Given the description of an element on the screen output the (x, y) to click on. 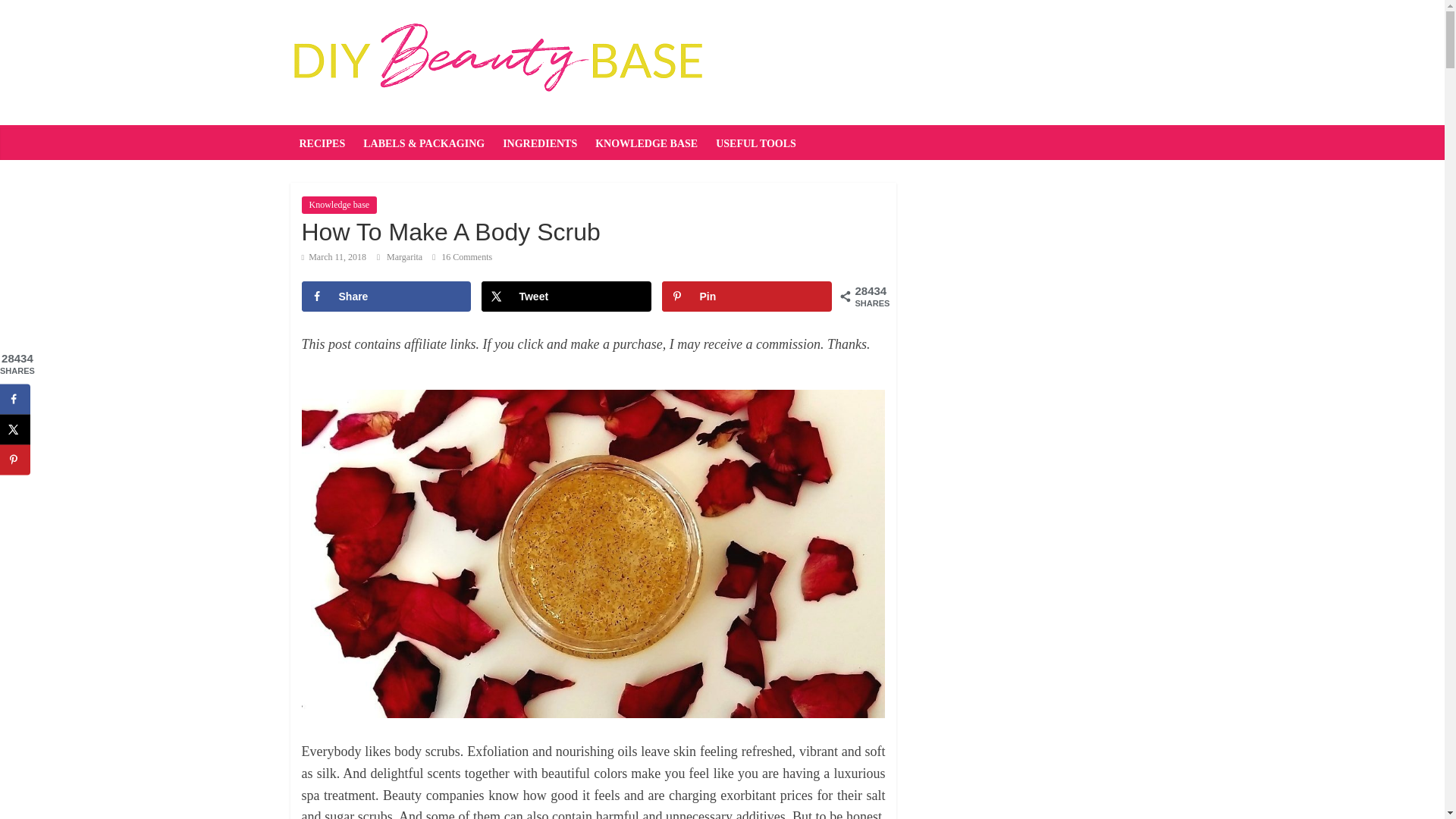
Tweet (565, 296)
RECIPES (321, 143)
Pin (746, 296)
Margarita (406, 256)
Margarita (406, 256)
Share (386, 296)
Share on X (565, 296)
March 11, 2018 (333, 256)
Share on X (15, 429)
Share on Facebook (386, 296)
Knowledge base (339, 204)
16 Comments (462, 256)
Save to Pinterest (746, 296)
KNOWLEDGE BASE (646, 143)
